Given the description of an element on the screen output the (x, y) to click on. 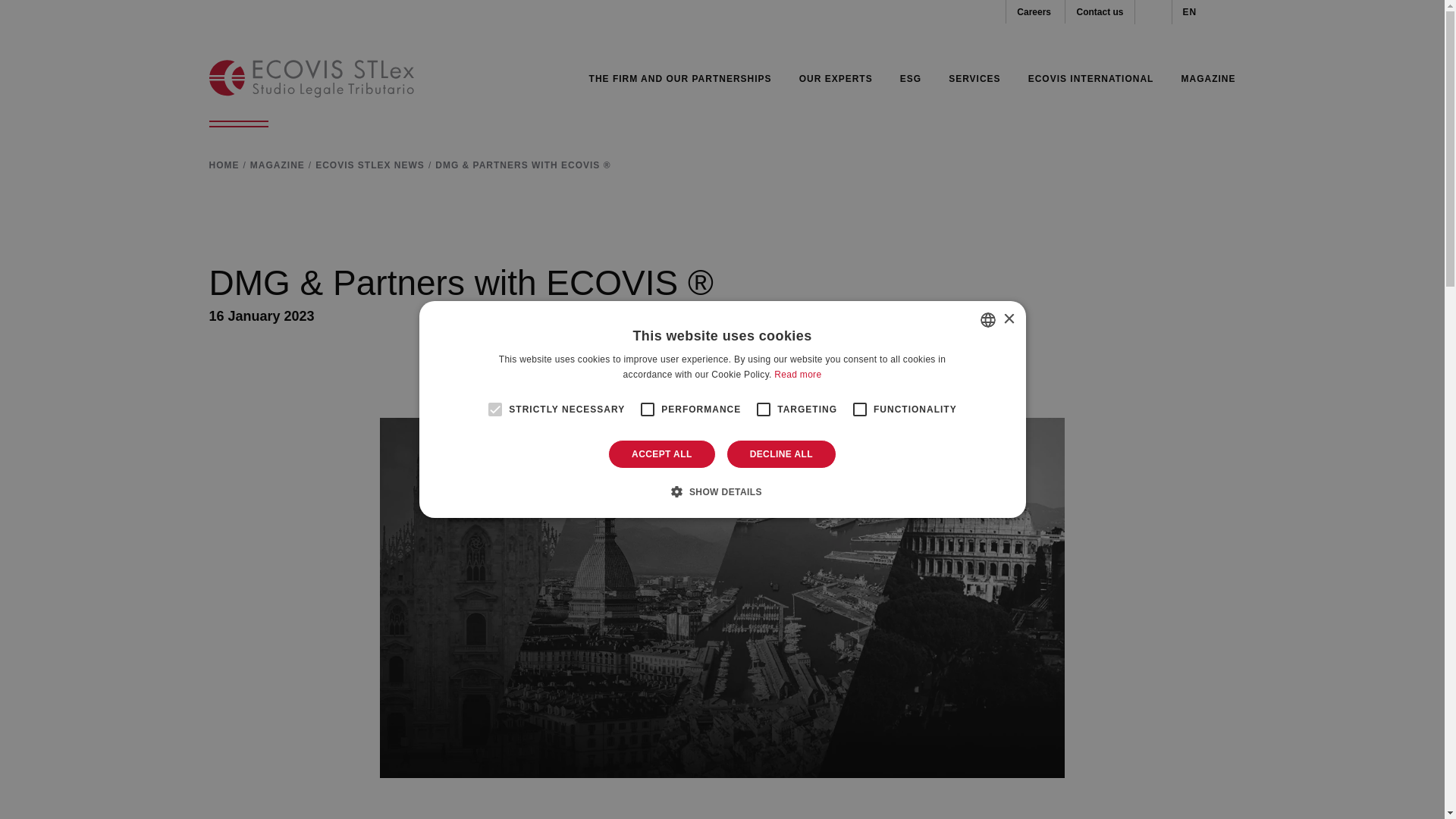
THE FIRM AND OUR PARTNERSHIPS (680, 78)
HOME (224, 164)
Read more (797, 374)
ECOVIS STLEX NEWS (370, 164)
MAGAZINE (277, 164)
Contact us (1098, 11)
Careers (1033, 11)
ECOVIS INTERNATIONAL (1090, 78)
Vai alla Homepage (311, 78)
OUR EXPERTS (835, 78)
